Given the description of an element on the screen output the (x, y) to click on. 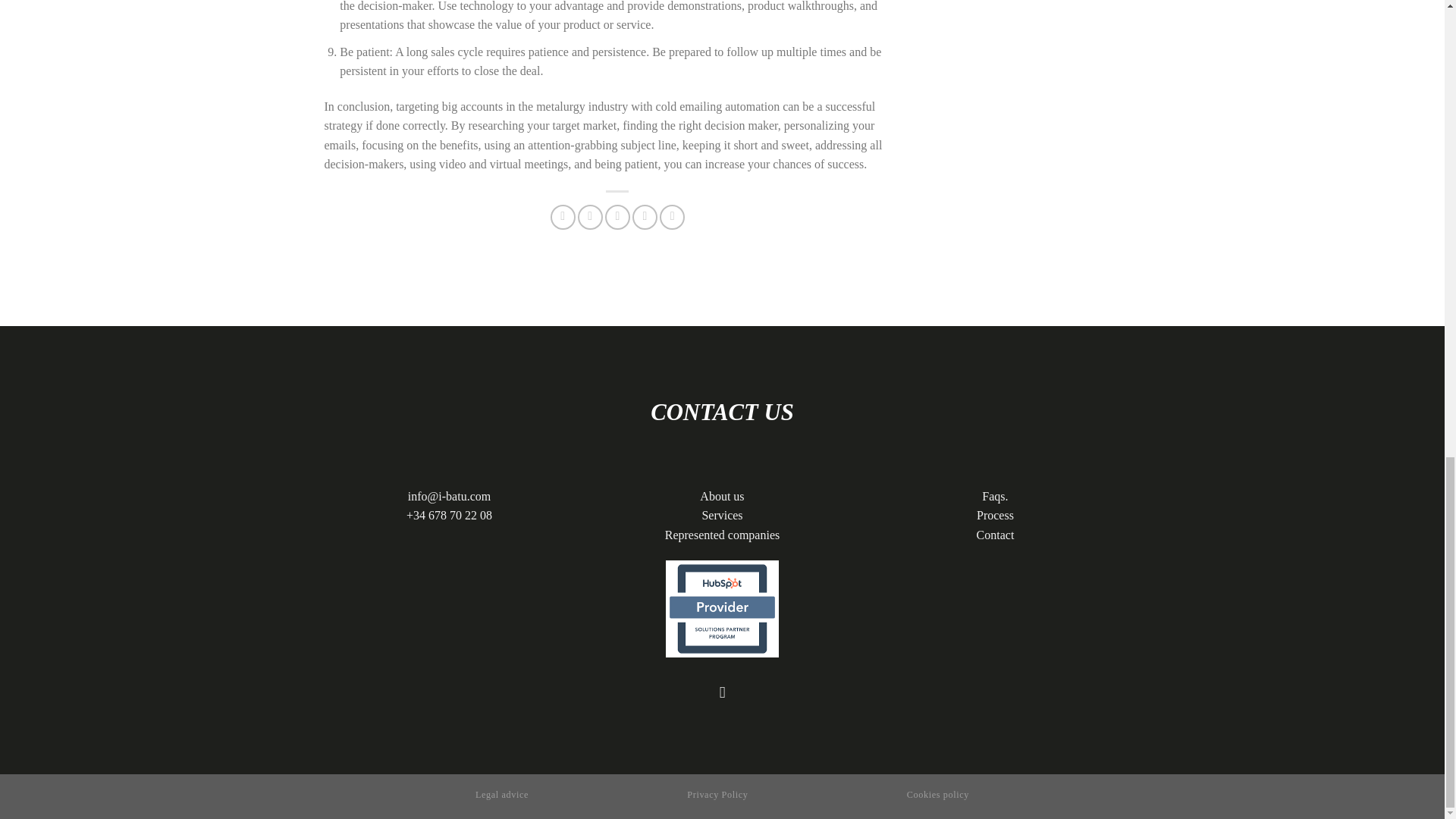
Share on LinkedIn (671, 217)
Share on Facebook (562, 217)
Email to a Friend (617, 217)
Share on Twitter (590, 217)
Pin on Pinterest (644, 217)
